Given the description of an element on the screen output the (x, y) to click on. 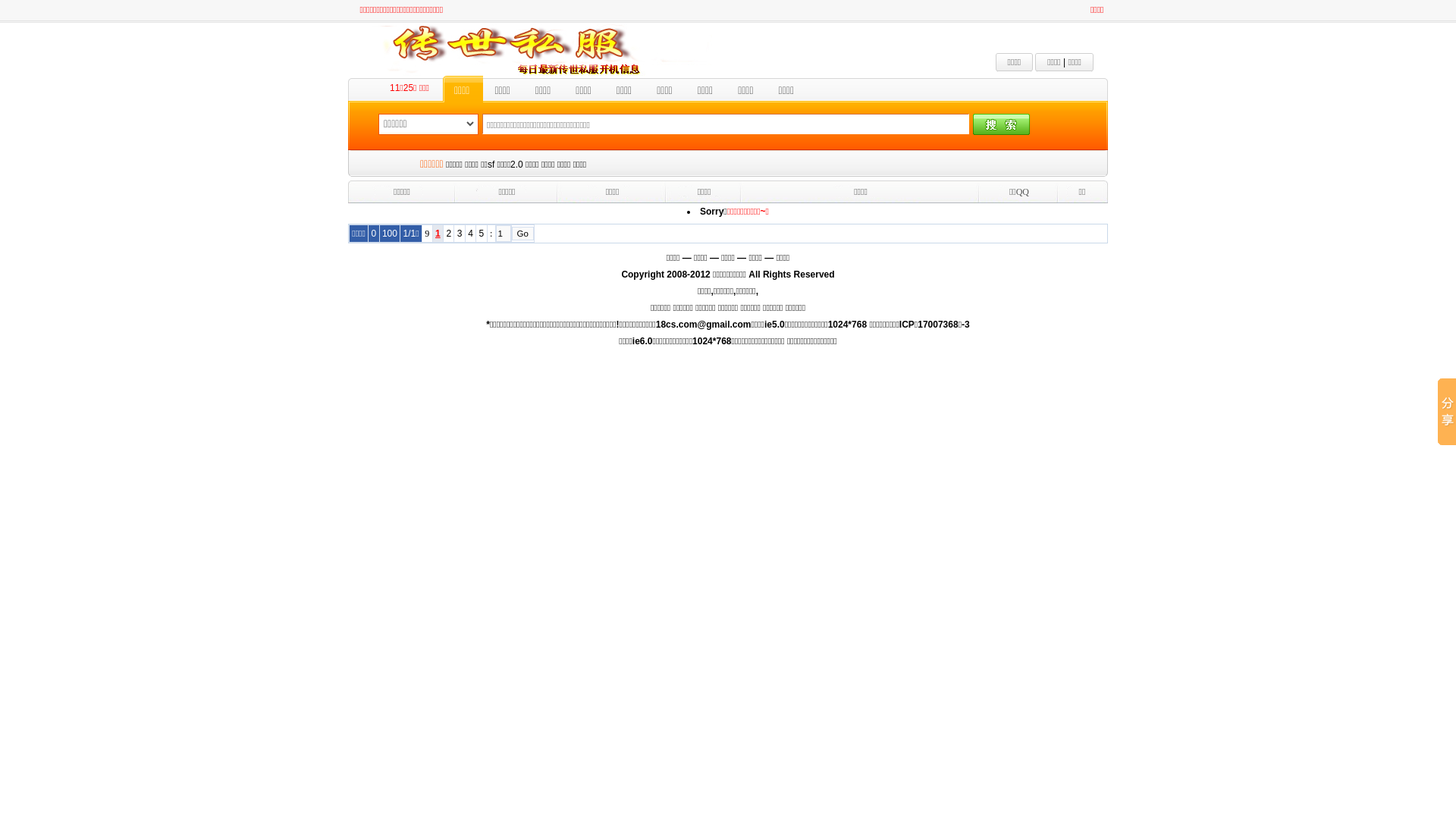
4 Element type: text (470, 233)
2 Element type: text (448, 233)
3 Element type: text (459, 233)
Go Element type: text (522, 233)
5 Element type: text (481, 233)
: Element type: text (490, 232)
